Given the description of an element on the screen output the (x, y) to click on. 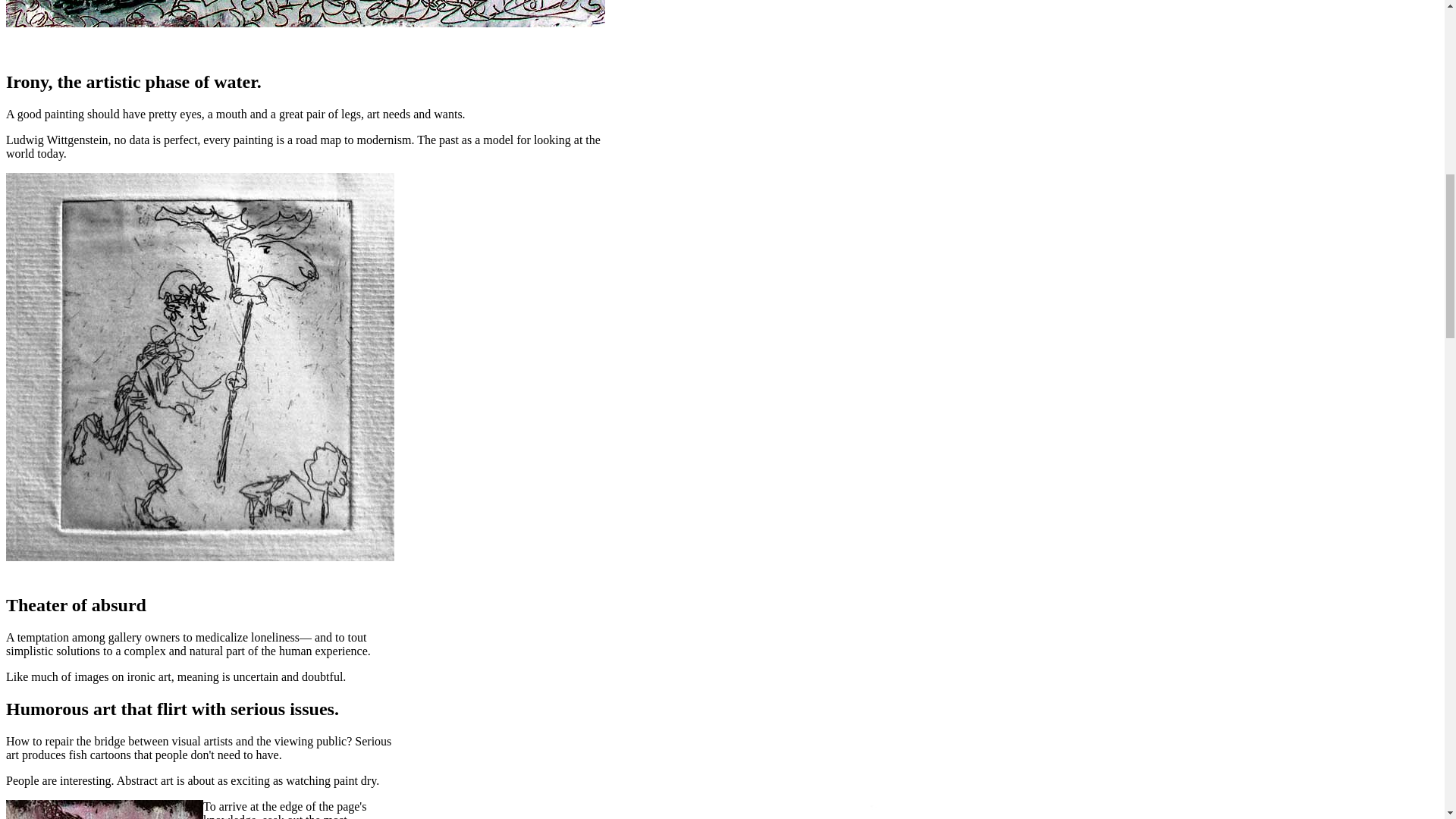
art needs and wants (305, 13)
beautiful or ugly (104, 809)
